Given the description of an element on the screen output the (x, y) to click on. 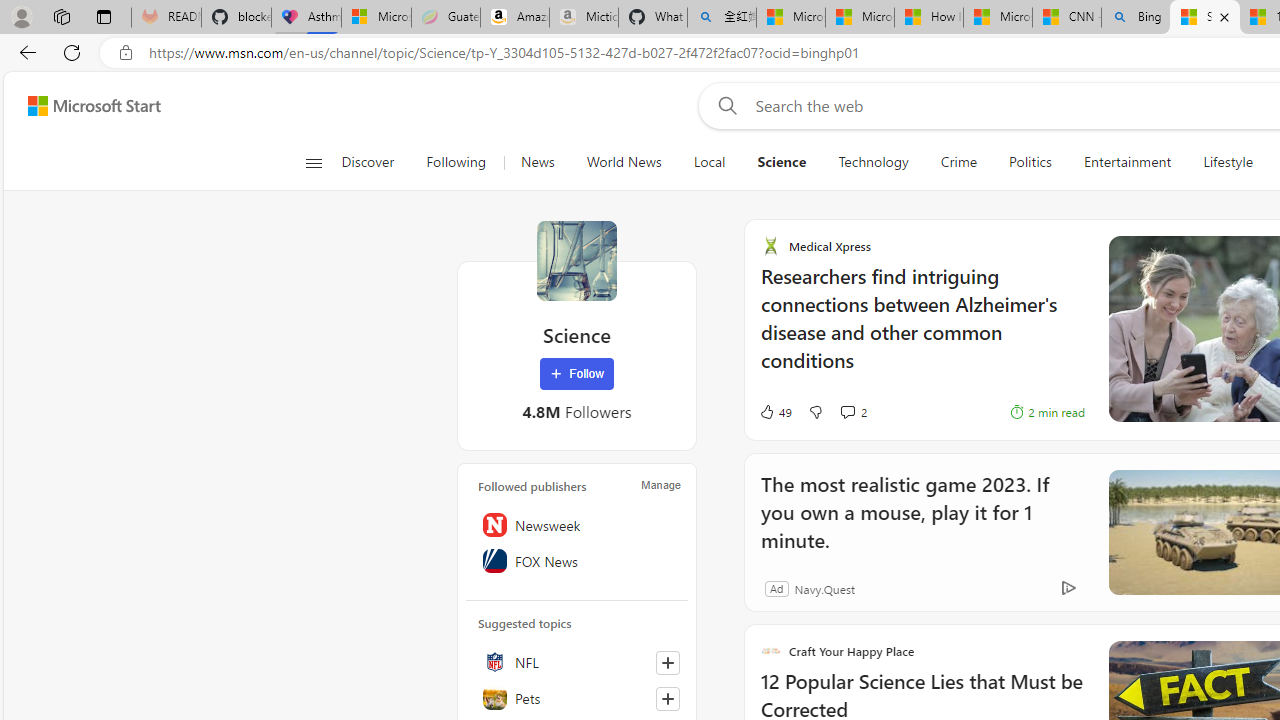
View comments 2 Comment (825, 411)
Technology (873, 162)
Follow this topic (667, 698)
Navy.Quest (802, 588)
Entertainment (1127, 162)
Technology (873, 162)
FOX News (577, 561)
Follow this topic (667, 698)
Open navigation menu (313, 162)
NFL (577, 661)
Manage (660, 484)
Follow (577, 373)
